Given the description of an element on the screen output the (x, y) to click on. 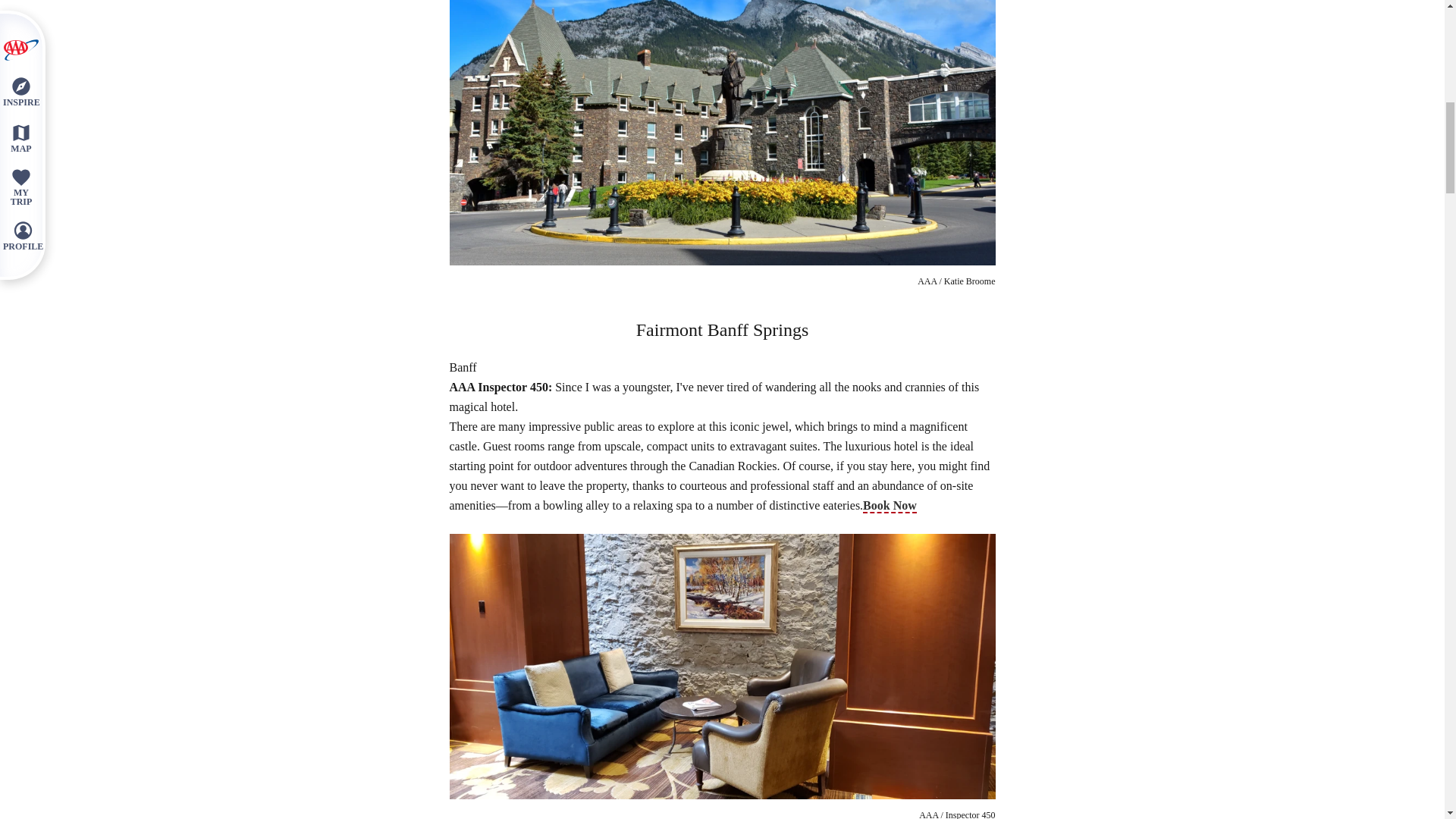
Book Now (890, 505)
